Given the description of an element on the screen output the (x, y) to click on. 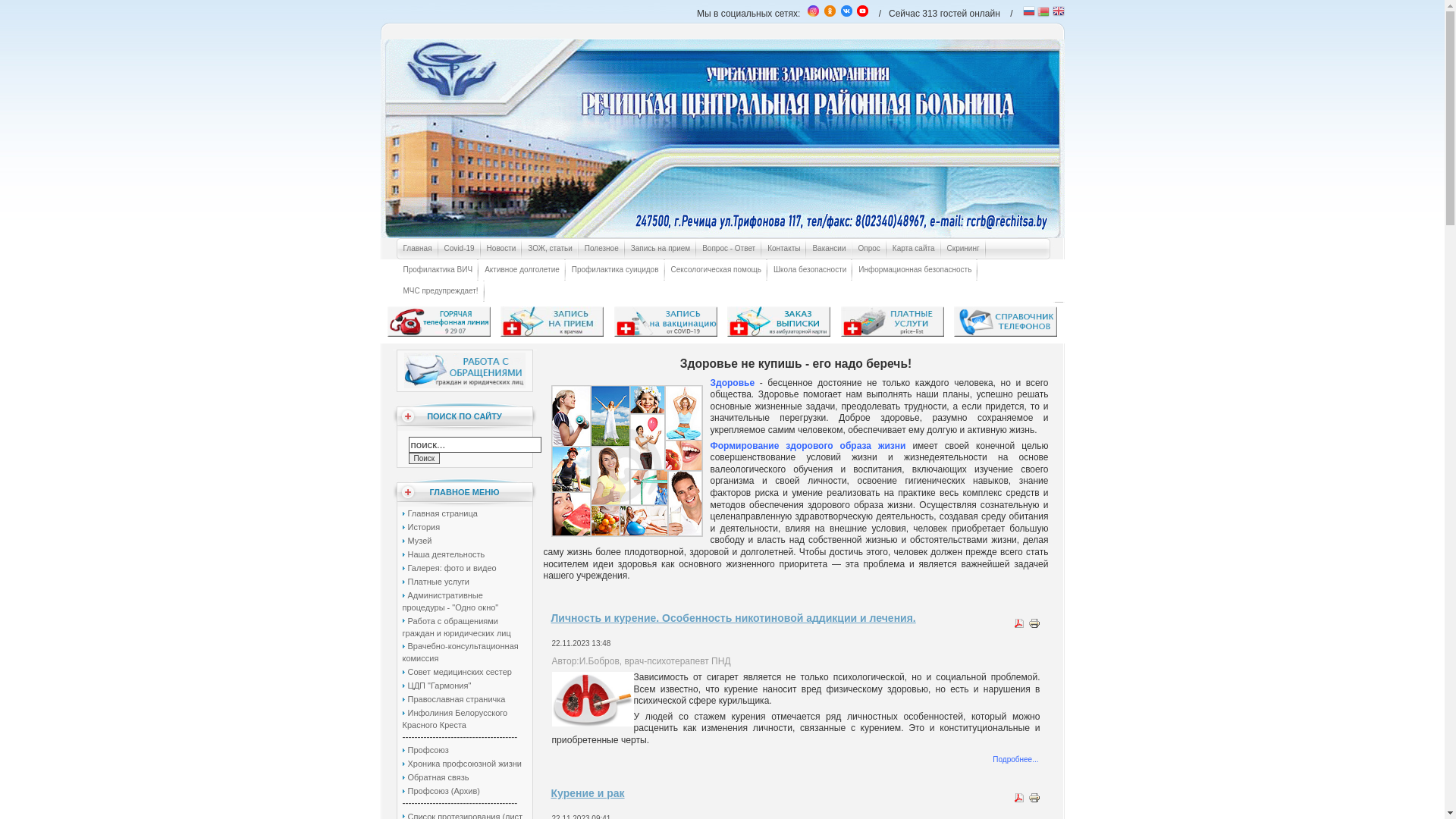
PDF Element type: hover (1019, 800)
Covid-19 Element type: text (459, 248)
Russian Element type: hover (1028, 12)
Belarusian Element type: hover (1043, 12)
English Element type: hover (1058, 12)
PDF Element type: hover (1019, 626)
